Given the description of an element on the screen output the (x, y) to click on. 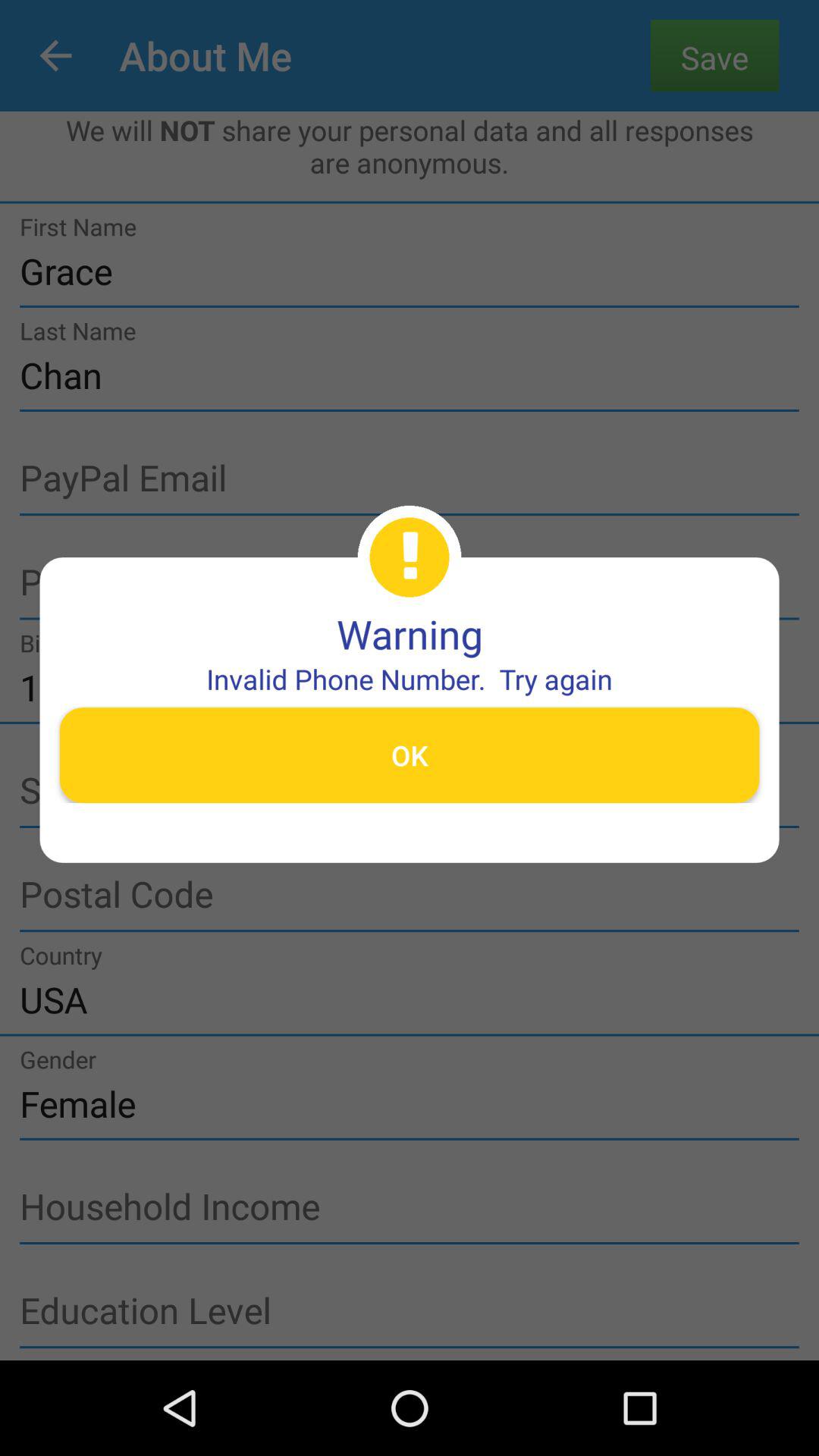
select the item below the invalid phone number item (409, 755)
